Given the description of an element on the screen output the (x, y) to click on. 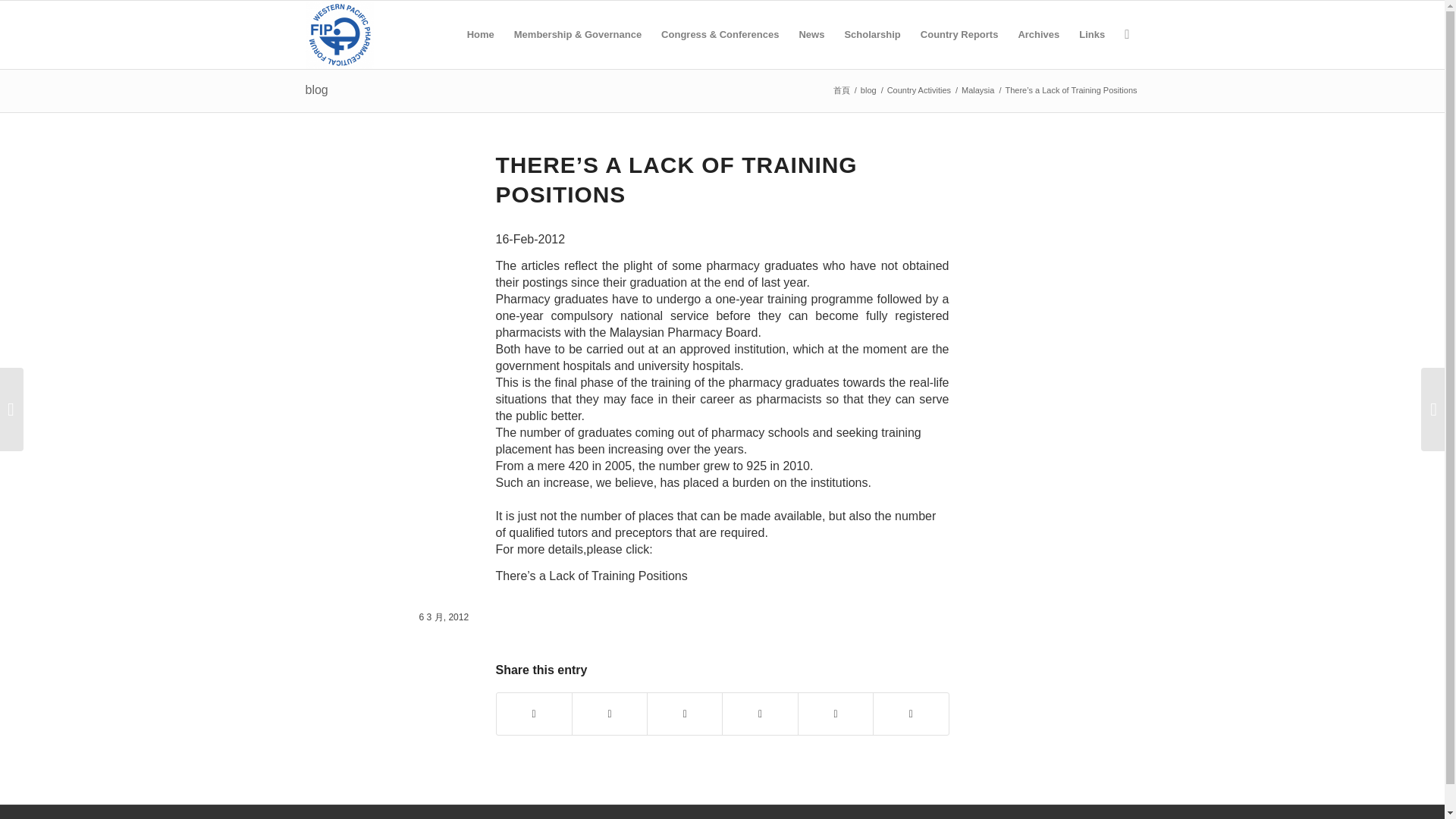
Malaysia (977, 90)
Facebook (1127, 816)
WPPF (841, 90)
Scholarship (872, 34)
Archives (1037, 34)
blog (869, 90)
blog (315, 89)
Country Reports (960, 34)
Twitter (1104, 816)
Permanent Link: blog (315, 89)
blog (869, 90)
Country Activities (919, 90)
